Given the description of an element on the screen output the (x, y) to click on. 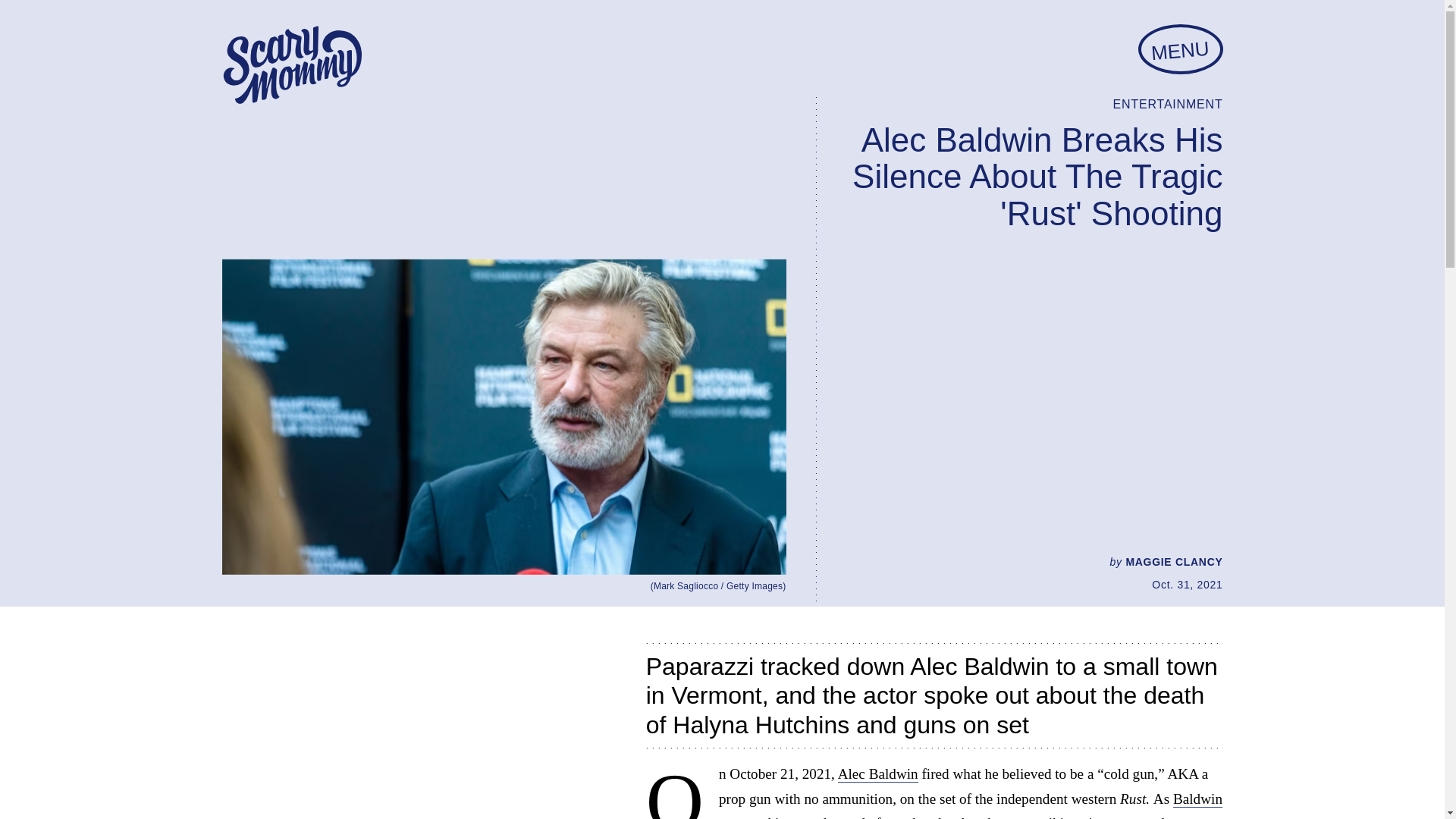
Scary Mommy (291, 64)
MAGGIE CLANCY (1174, 562)
Baldwin (1198, 799)
Alec Baldwin (878, 773)
